Given the description of an element on the screen output the (x, y) to click on. 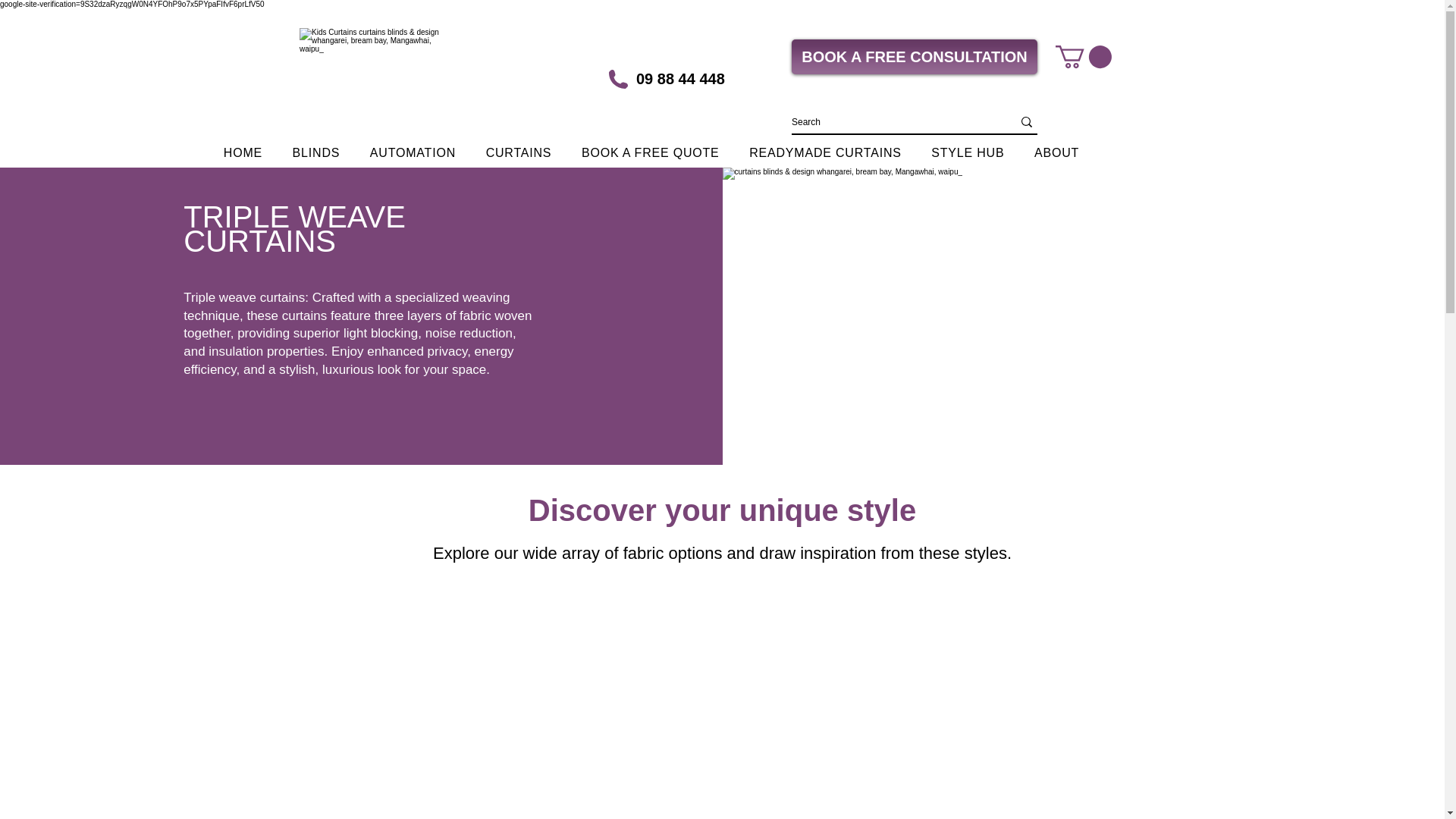
HOME (243, 152)
READYMADE CURTAINS (824, 152)
BLINDS (316, 152)
09 88 44 448      (690, 78)
BOOK A FREE CONSULTATION (914, 56)
AUTOMATION (412, 152)
